Given the description of an element on the screen output the (x, y) to click on. 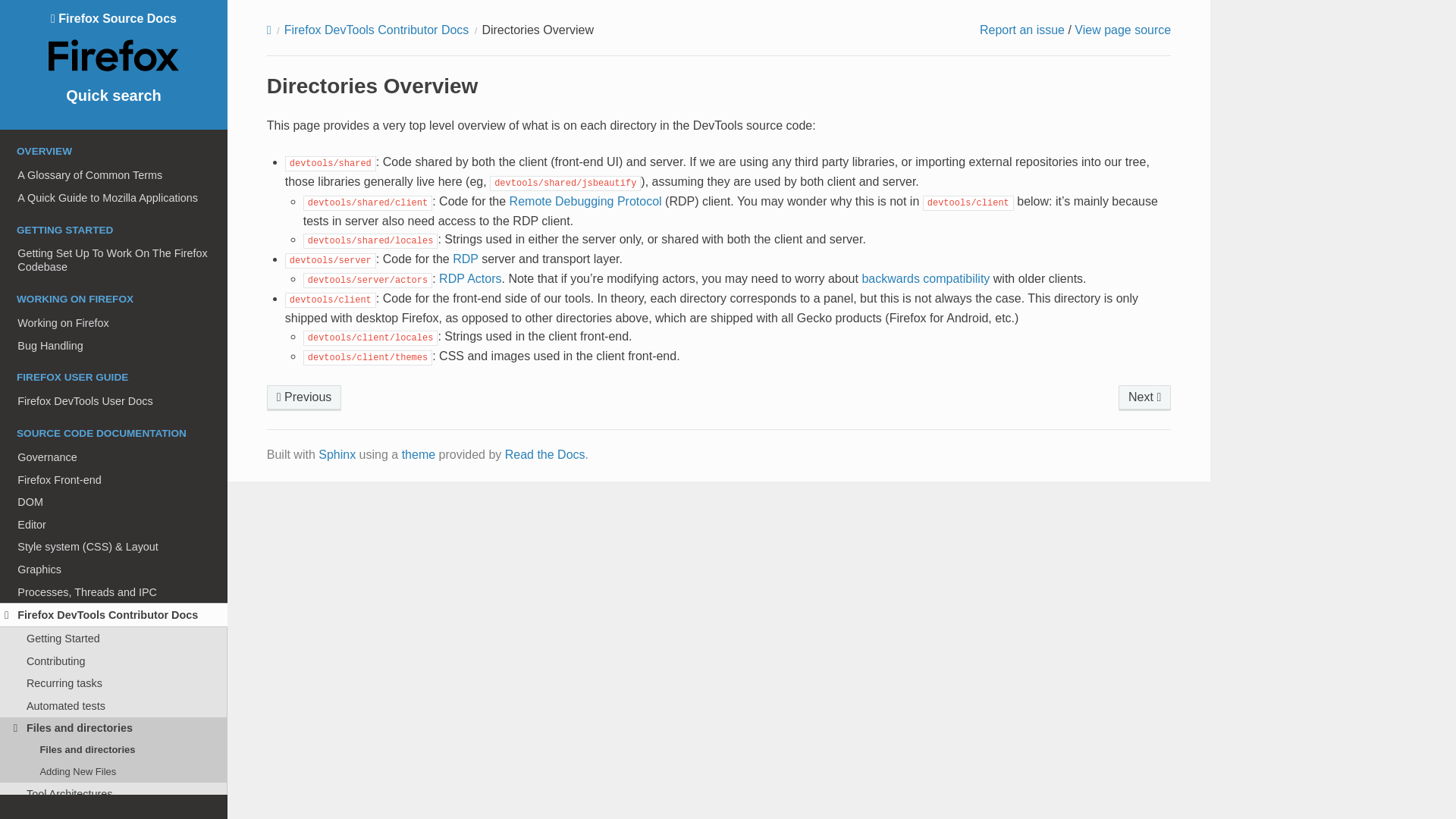
Adding New Files - Various DevTools Resource Types (1144, 397)
Recurring tasks (113, 682)
Firefox DevTools Contributor Docs (113, 614)
Automated tests (113, 705)
Working on Firefox (113, 323)
Bug Handling (113, 345)
How to write a good performance test? (304, 397)
Getting Started (113, 638)
Contributing (113, 661)
DOM (113, 501)
Files and directories (113, 728)
Graphics (113, 568)
Firefox Source Docs (113, 43)
Processes, Threads and IPC (113, 591)
Adding New Files (113, 771)
